Given the description of an element on the screen output the (x, y) to click on. 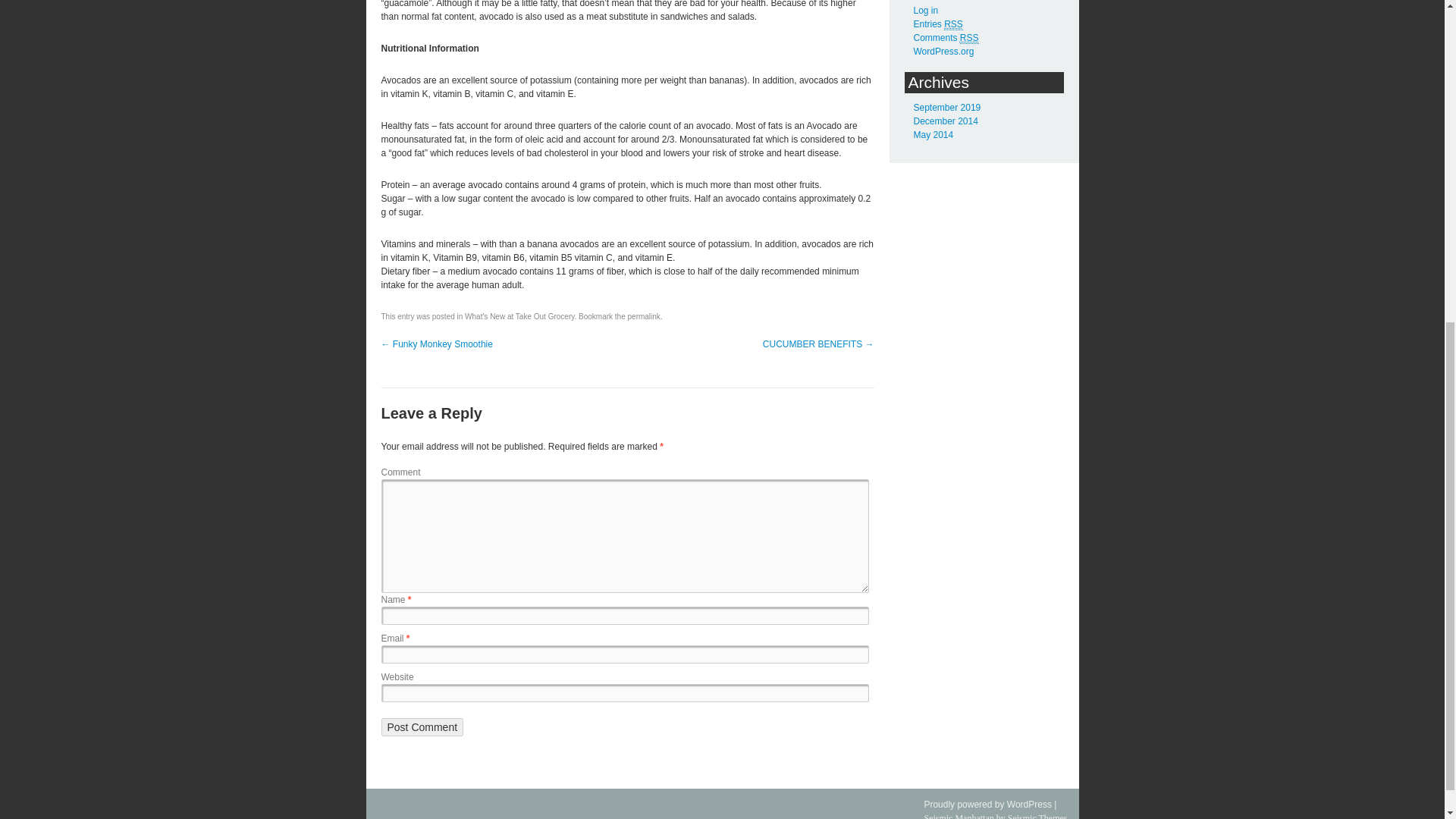
Entries RSS (937, 24)
Really Simple Syndication (952, 24)
permalink (644, 316)
Post Comment (421, 727)
Really Simple Syndication (968, 38)
Post Comment (421, 727)
Permalink to AVOCADO BENEFITS (644, 316)
Log in (924, 9)
WordPress.org (943, 50)
Comments RSS (945, 38)
What's New at Take Out Grocery (518, 316)
Semantic Personal Publishing Platform (987, 804)
